Given the description of an element on the screen output the (x, y) to click on. 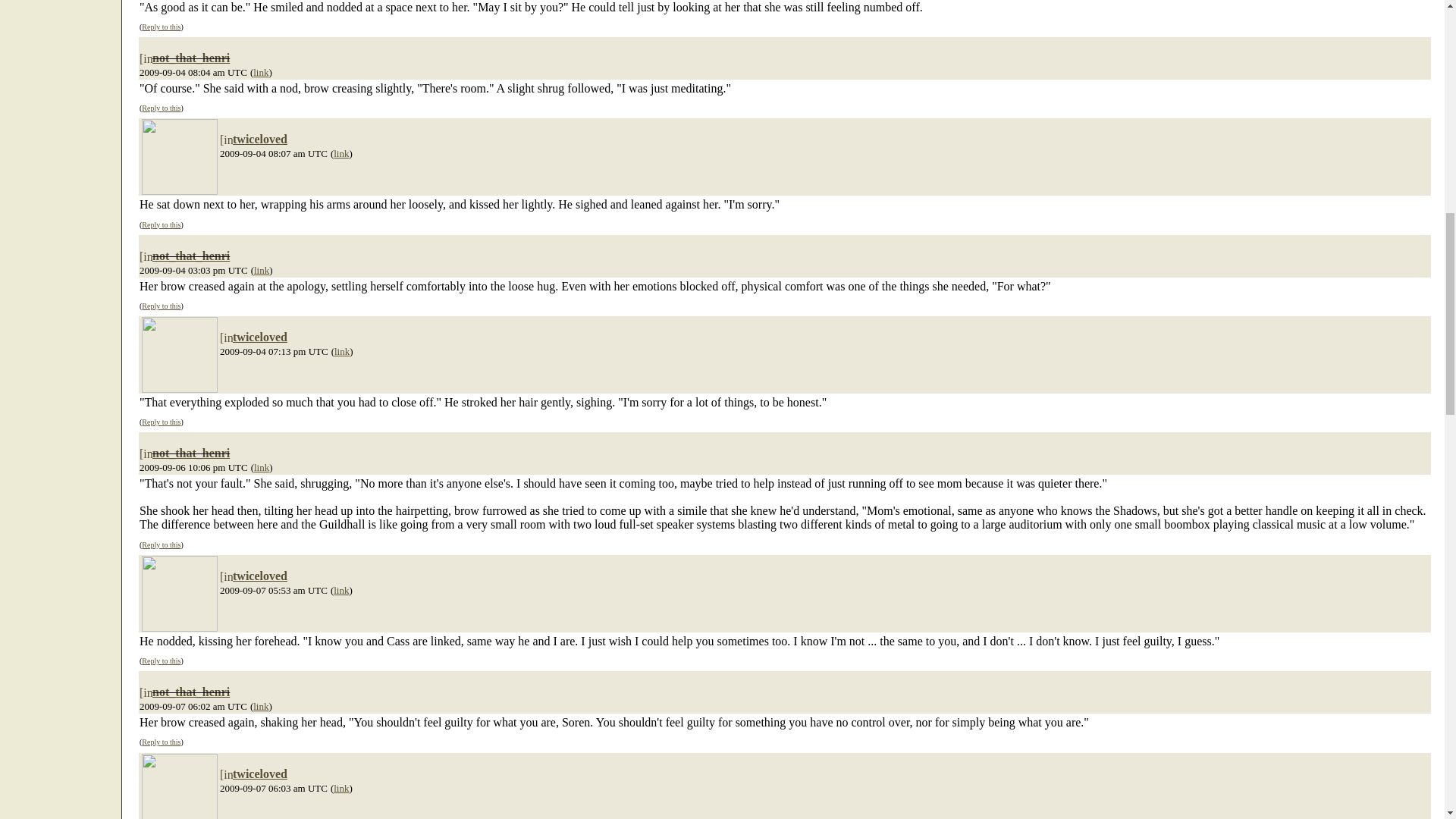
Soren Elias Chappu Skwigelf: hanging out - stomach (178, 593)
Soren Elias Chappu Skwigelf: cutieface (178, 786)
Soren Elias Chappu Skwigelf: hanging out - blah (178, 156)
Soren Elias Chappu Skwigelf (178, 354)
